Given the description of an element on the screen output the (x, y) to click on. 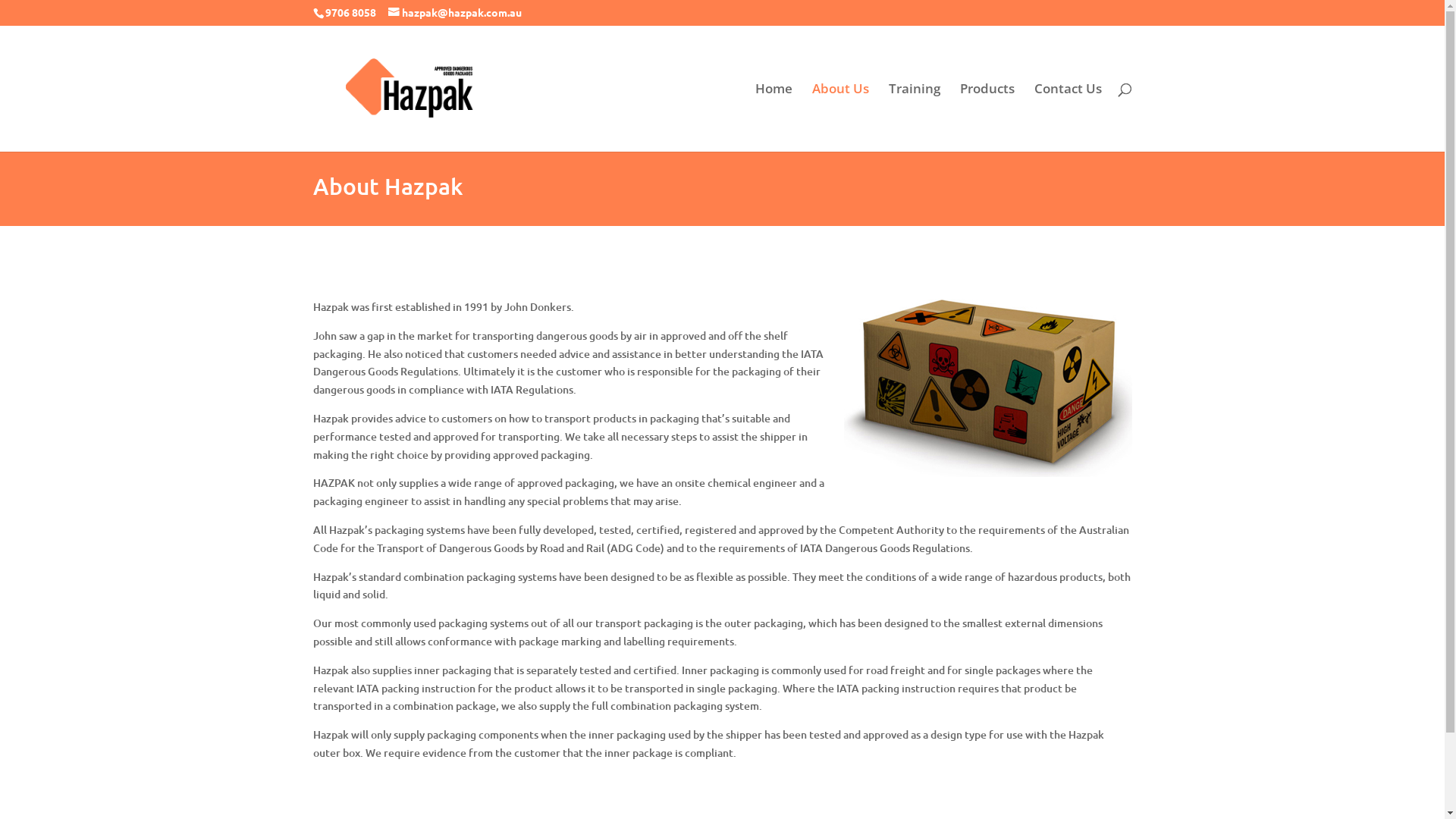
Training Element type: text (914, 117)
Home Element type: text (773, 117)
About Us Element type: text (839, 117)
hazpak@hazpak.com.au Element type: text (454, 11)
9706 8058 Element type: text (349, 11)
Contact Us Element type: text (1067, 117)
Products Element type: text (987, 117)
